Given the description of an element on the screen output the (x, y) to click on. 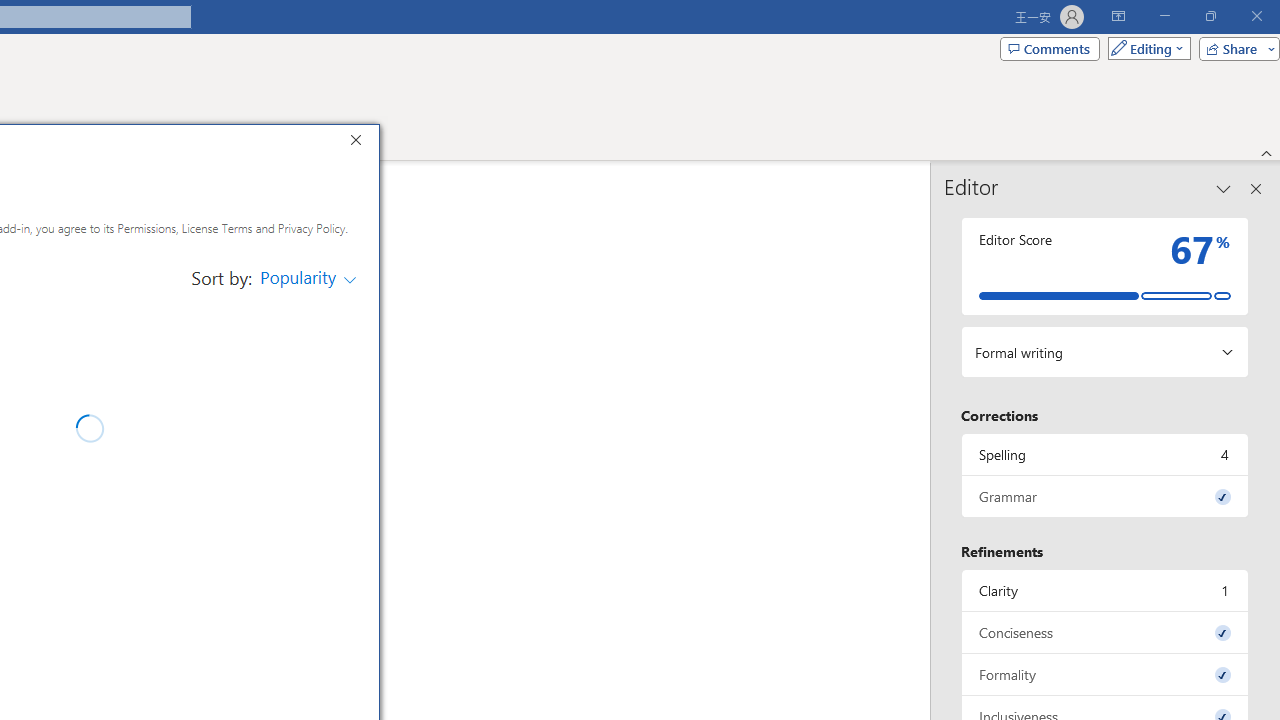
Editing (1144, 47)
Editor Score 67% (1105, 266)
Spelling, 4 issues. Press space or enter to review items. (1105, 454)
Clarity, 1 issue. Press space or enter to review items. (1105, 590)
